Given the description of an element on the screen output the (x, y) to click on. 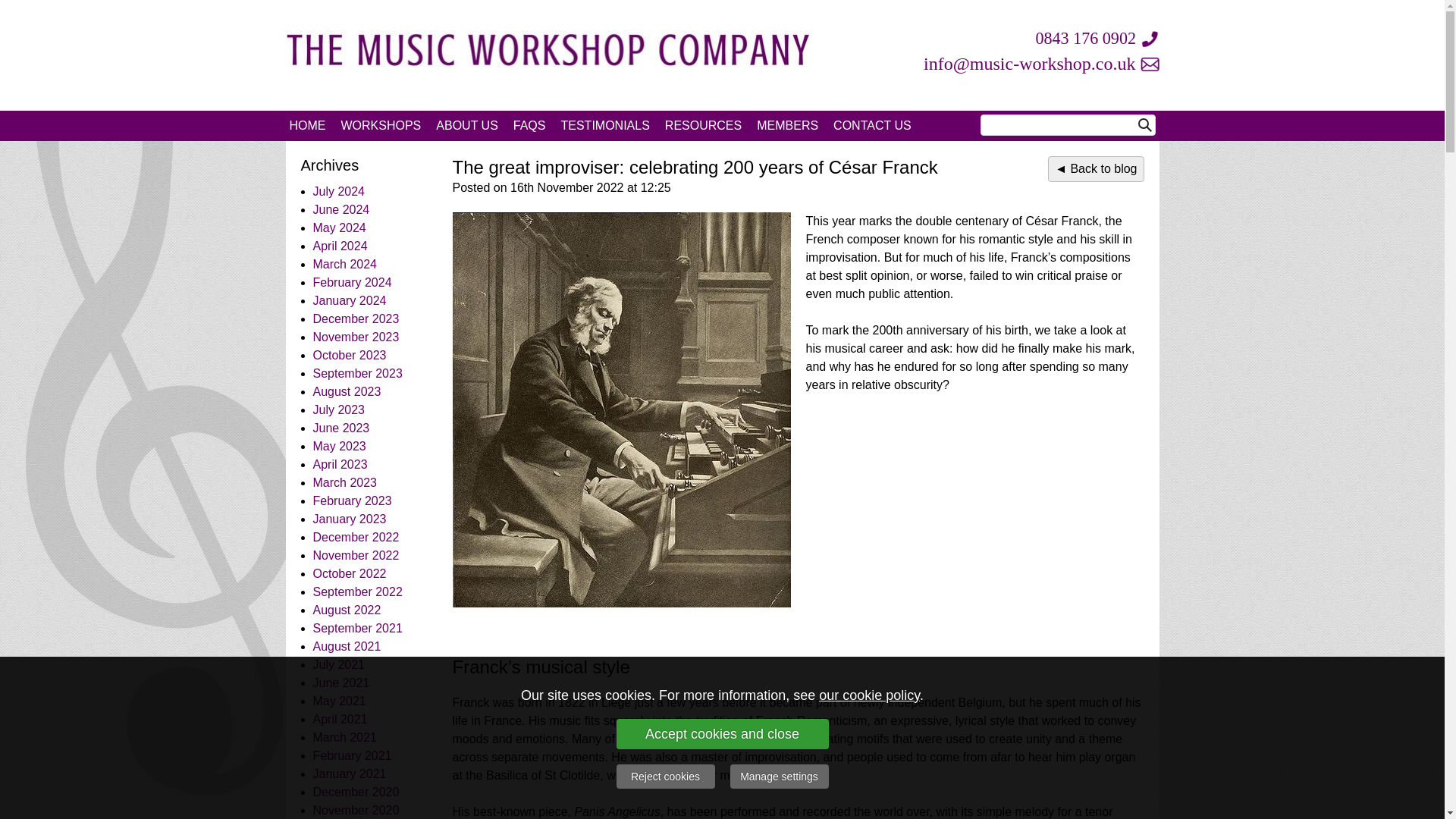
Back to blog (1095, 168)
WORKSHOPS (381, 125)
FAQS (529, 125)
RESOURCES (703, 125)
TESTIMONIALS (604, 125)
CONTACT US (871, 125)
ABOUT US (466, 125)
MEMBERS (787, 125)
HOME (307, 125)
